Given the description of an element on the screen output the (x, y) to click on. 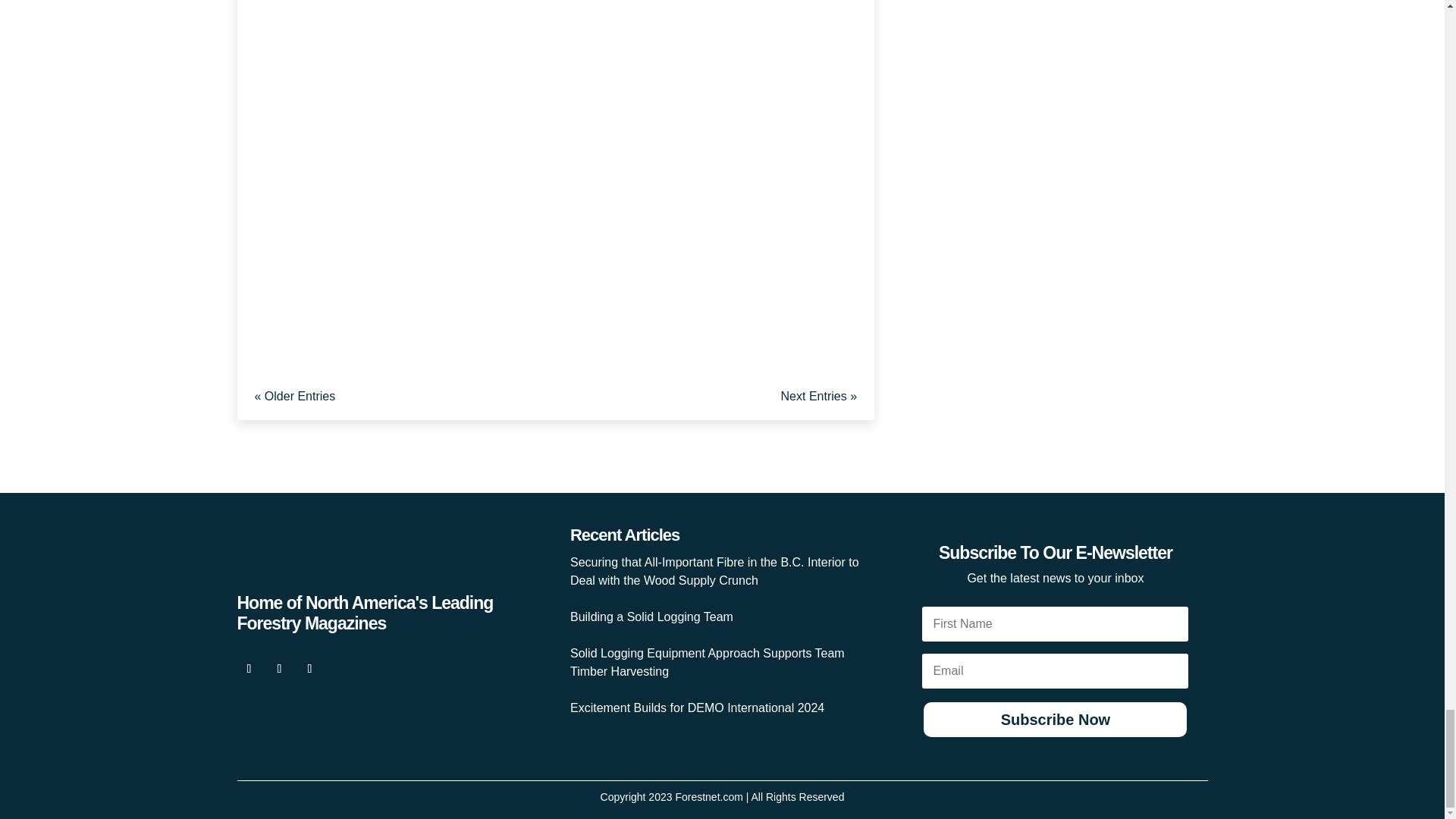
Follow on X (278, 668)
Follow on Facebook (247, 668)
Follow on Instagram (309, 668)
